Given the description of an element on the screen output the (x, y) to click on. 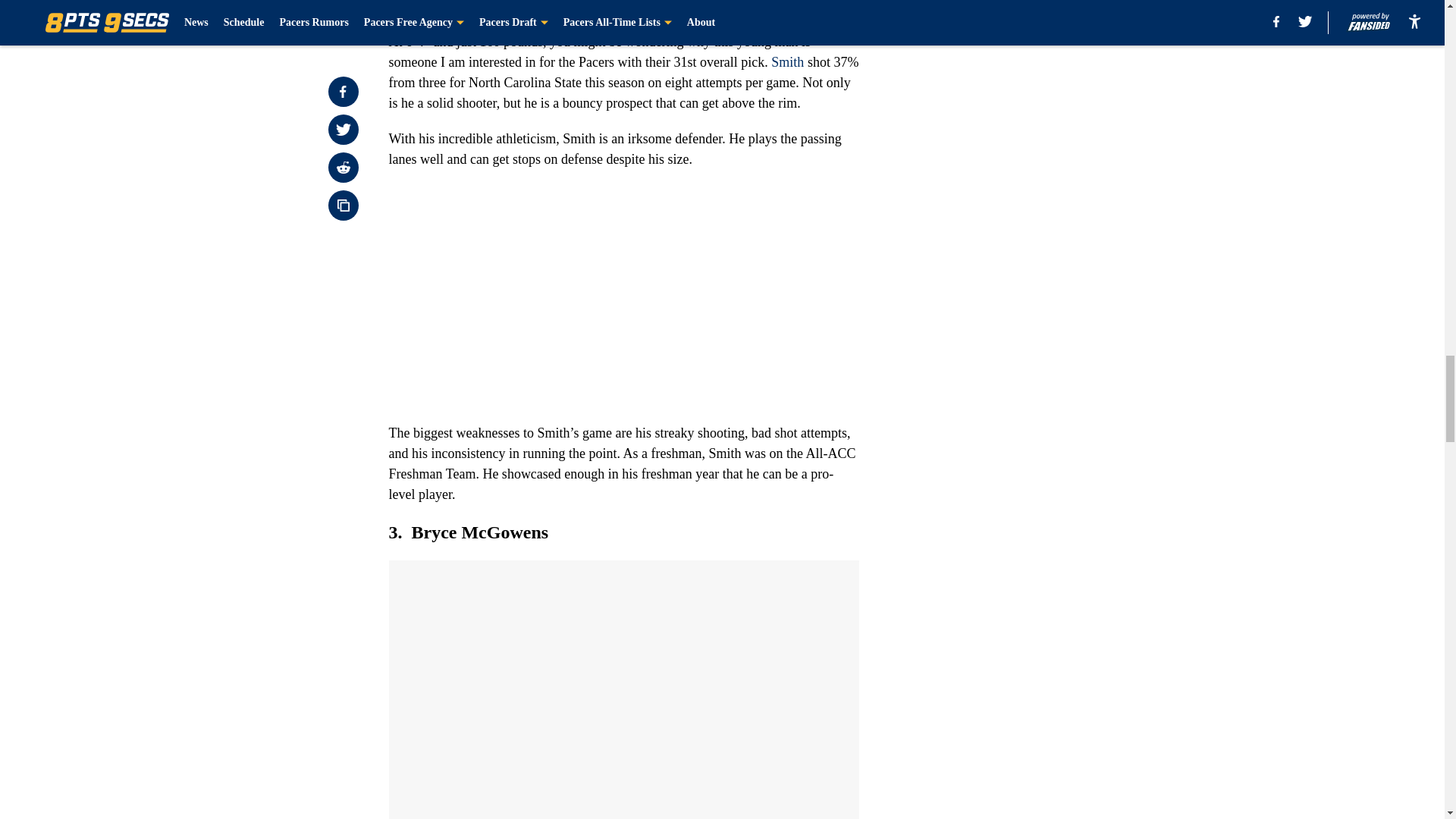
Smith (787, 61)
